Given the description of an element on the screen output the (x, y) to click on. 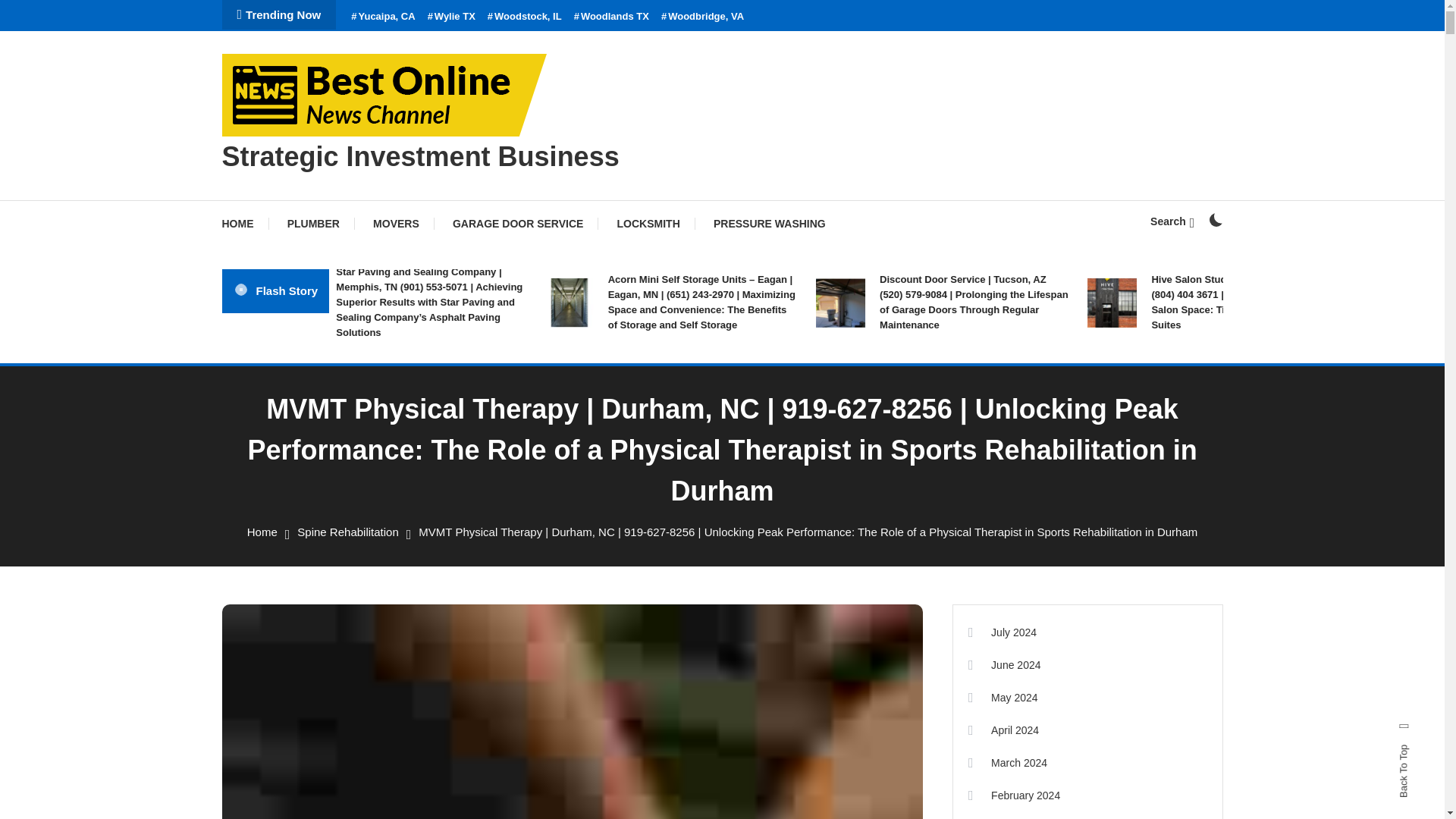
Strategic Investment Business (419, 155)
LOCKSMITH (648, 223)
Woodlands TX (611, 16)
MOVERS (395, 223)
Search (1171, 221)
Woodbridge, VA (702, 16)
Yucaipa, CA (382, 16)
Home (262, 531)
Wylie TX (452, 16)
Woodstock, IL (524, 16)
PRESSURE WASHING (769, 223)
PLUMBER (313, 223)
Spine Rehabilitation (347, 531)
GARAGE DOOR SERVICE (518, 223)
HOME (244, 223)
